Given the description of an element on the screen output the (x, y) to click on. 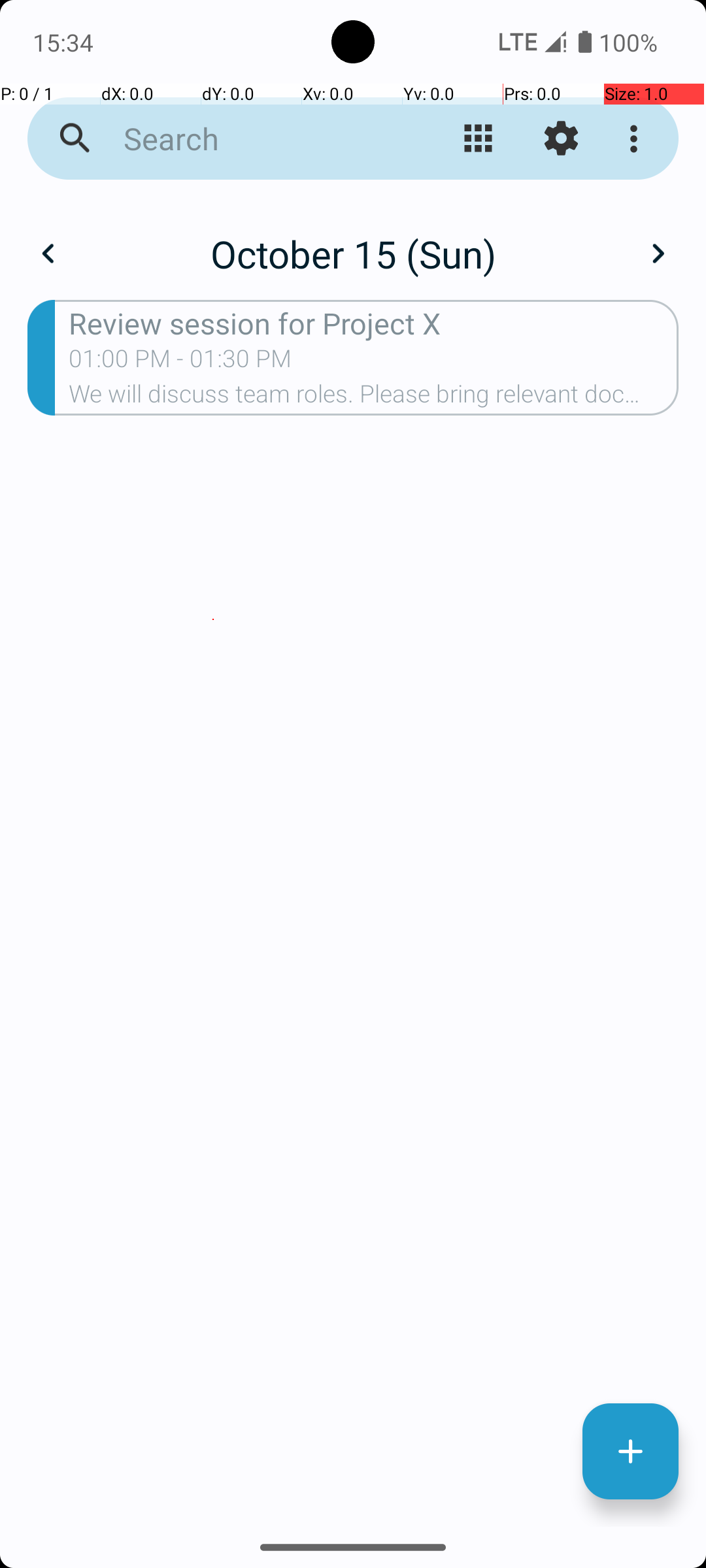
Review session for Project X Element type: android.widget.TextView (373, 321)
01:00 PM - 01:30 PM Element type: android.widget.TextView (179, 362)
We will discuss team roles. Please bring relevant documents. Element type: android.widget.TextView (373, 397)
